Given the description of an element on the screen output the (x, y) to click on. 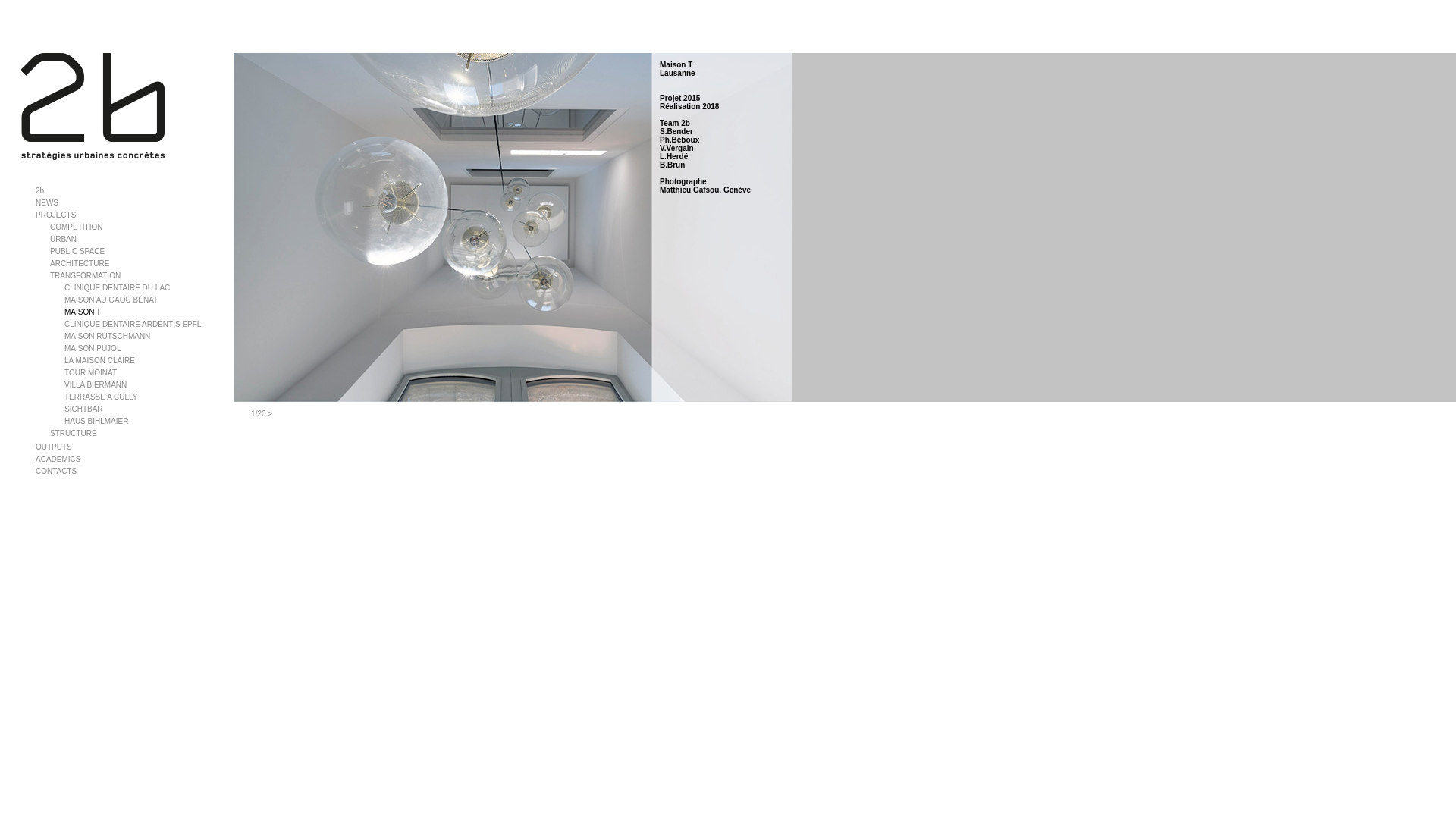
PROJECTS Element type: text (55, 214)
STRUCTURE Element type: text (73, 433)
ARCHITECTURE Element type: text (79, 263)
TRANSFORMATION Element type: text (85, 275)
TERRASSE A CULLY Element type: text (101, 396)
NEWS Element type: text (46, 202)
CLINIQUE DENTAIRE DU LAC Element type: text (116, 287)
SICHTBAR Element type: text (83, 408)
HAUS BIHLMAIER Element type: text (96, 421)
OUTPUTS Element type: text (53, 446)
MAISON PUJOL Element type: text (92, 348)
COMPETITION Element type: text (76, 226)
LA MAISON CLAIRE Element type: text (99, 360)
PUBLIC SPACE Element type: text (77, 251)
CONTACTS Element type: text (55, 471)
TOUR MOINAT Element type: text (90, 372)
> Element type: text (269, 413)
ACADEMICS Element type: text (57, 459)
URBAN Element type: text (63, 239)
VILLA BIERMANN Element type: text (95, 384)
2b Element type: text (39, 190)
MAISON RUTSCHMANN Element type: text (107, 336)
CLINIQUE DENTAIRE ARDENTIS EPFL Element type: text (132, 324)
